Given the description of an element on the screen output the (x, y) to click on. 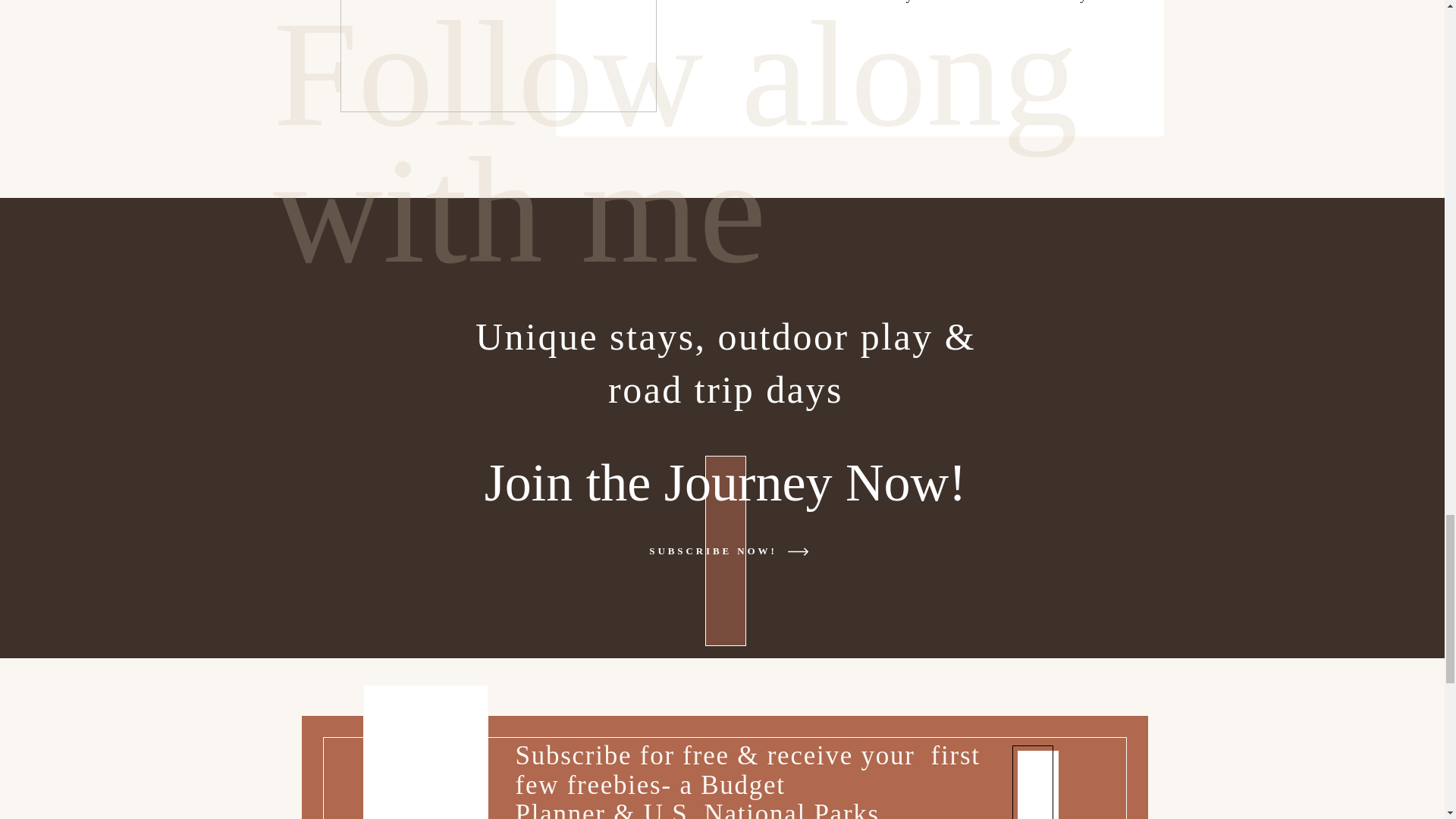
List of 10 Cozy Adventure Ideas in Lake Pepin WI (497, 56)
